Given the description of an element on the screen output the (x, y) to click on. 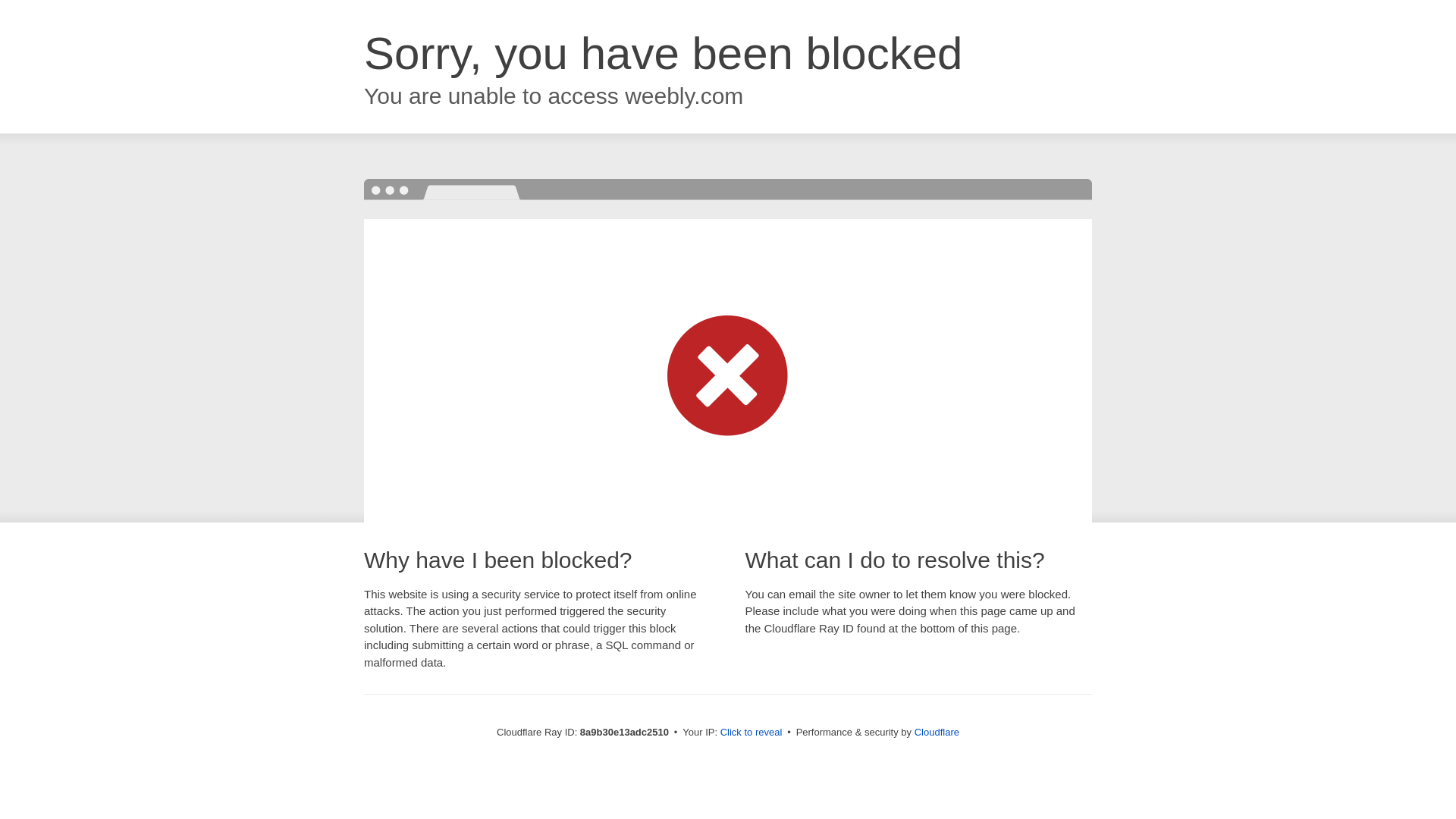
Cloudflare (936, 731)
Click to reveal (751, 732)
